Given the description of an element on the screen output the (x, y) to click on. 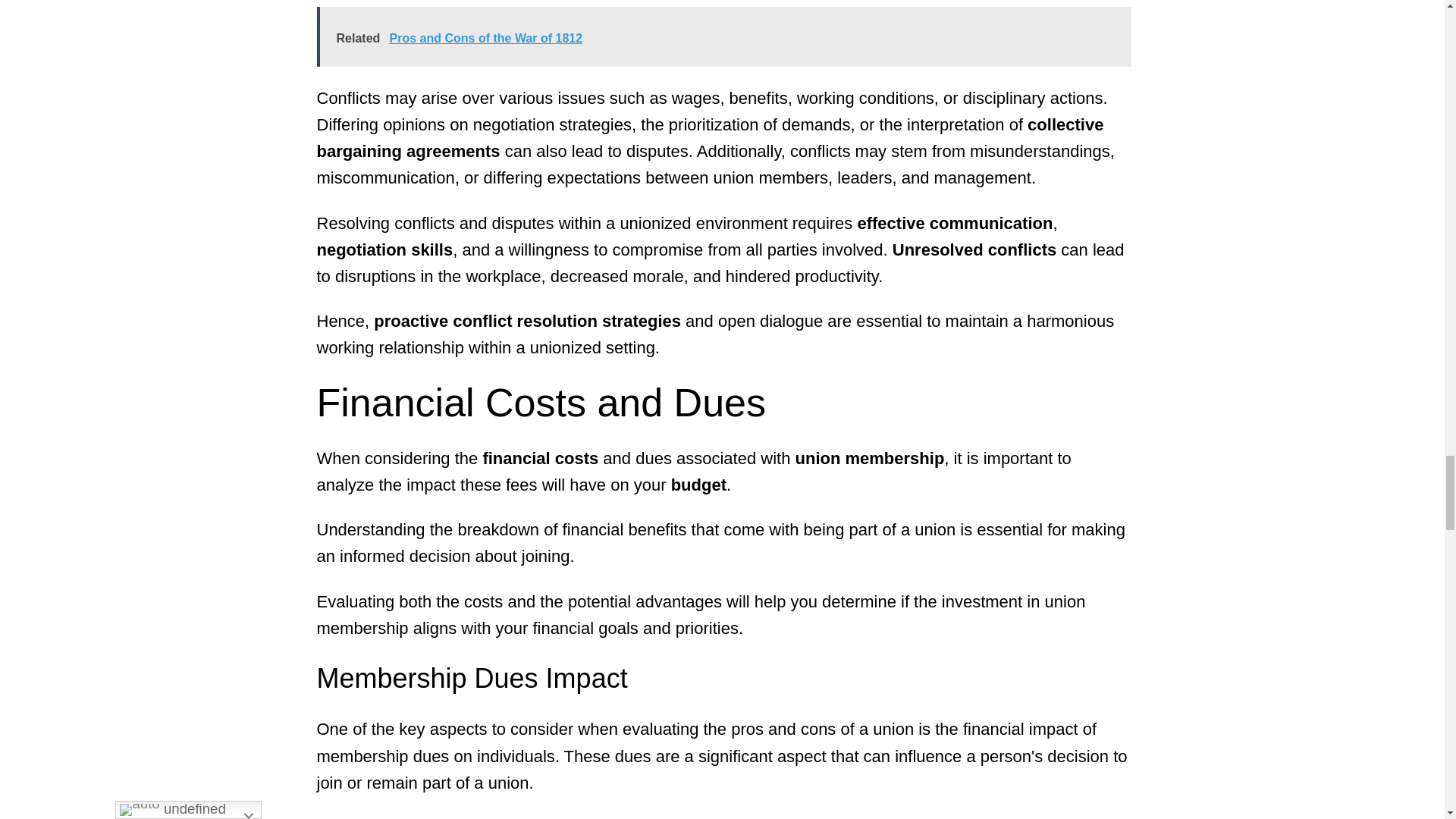
Related  Pros and Cons of the War of 1812 (724, 36)
